Given the description of an element on the screen output the (x, y) to click on. 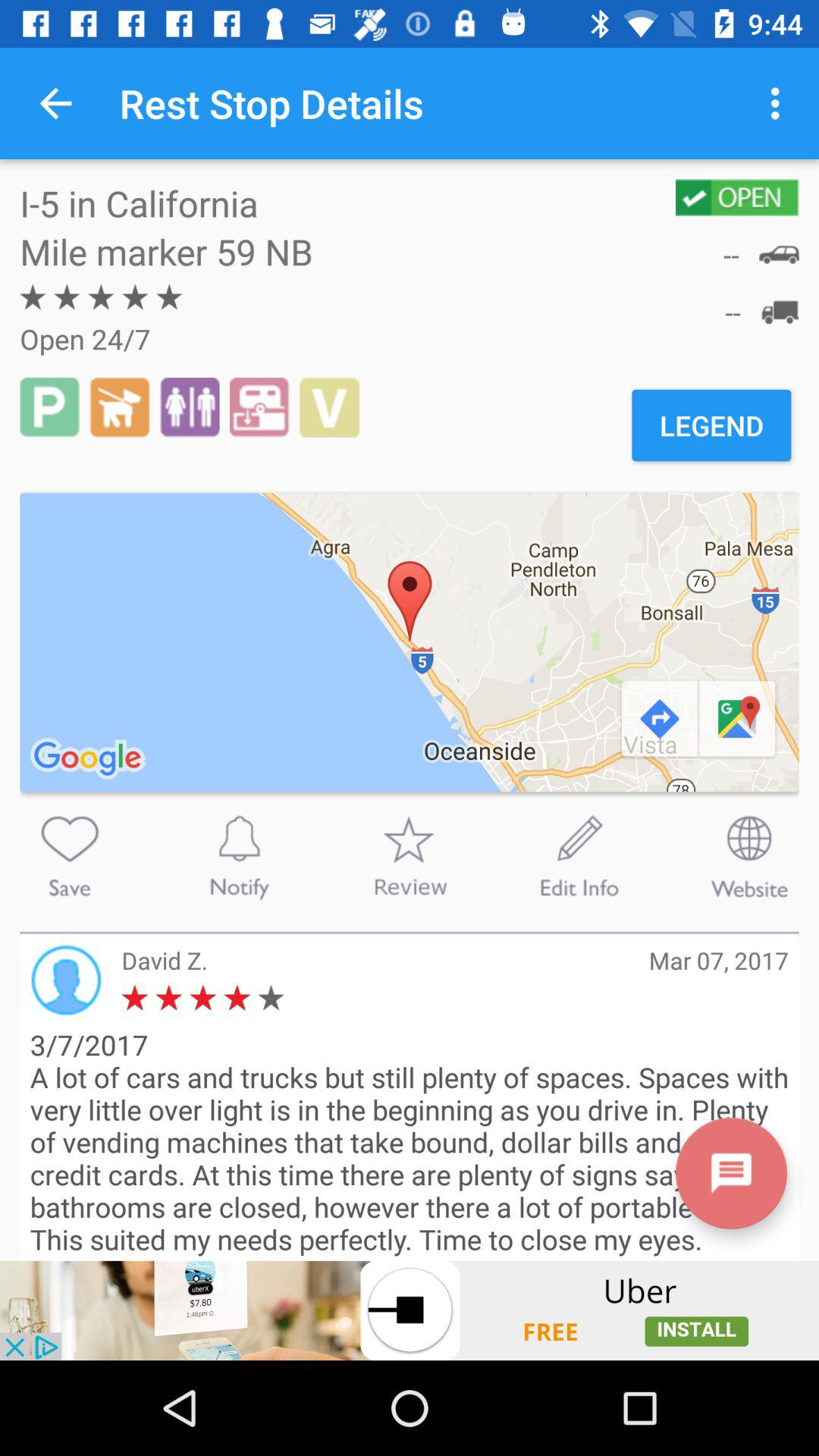
alarm (238, 856)
